Given the description of an element on the screen output the (x, y) to click on. 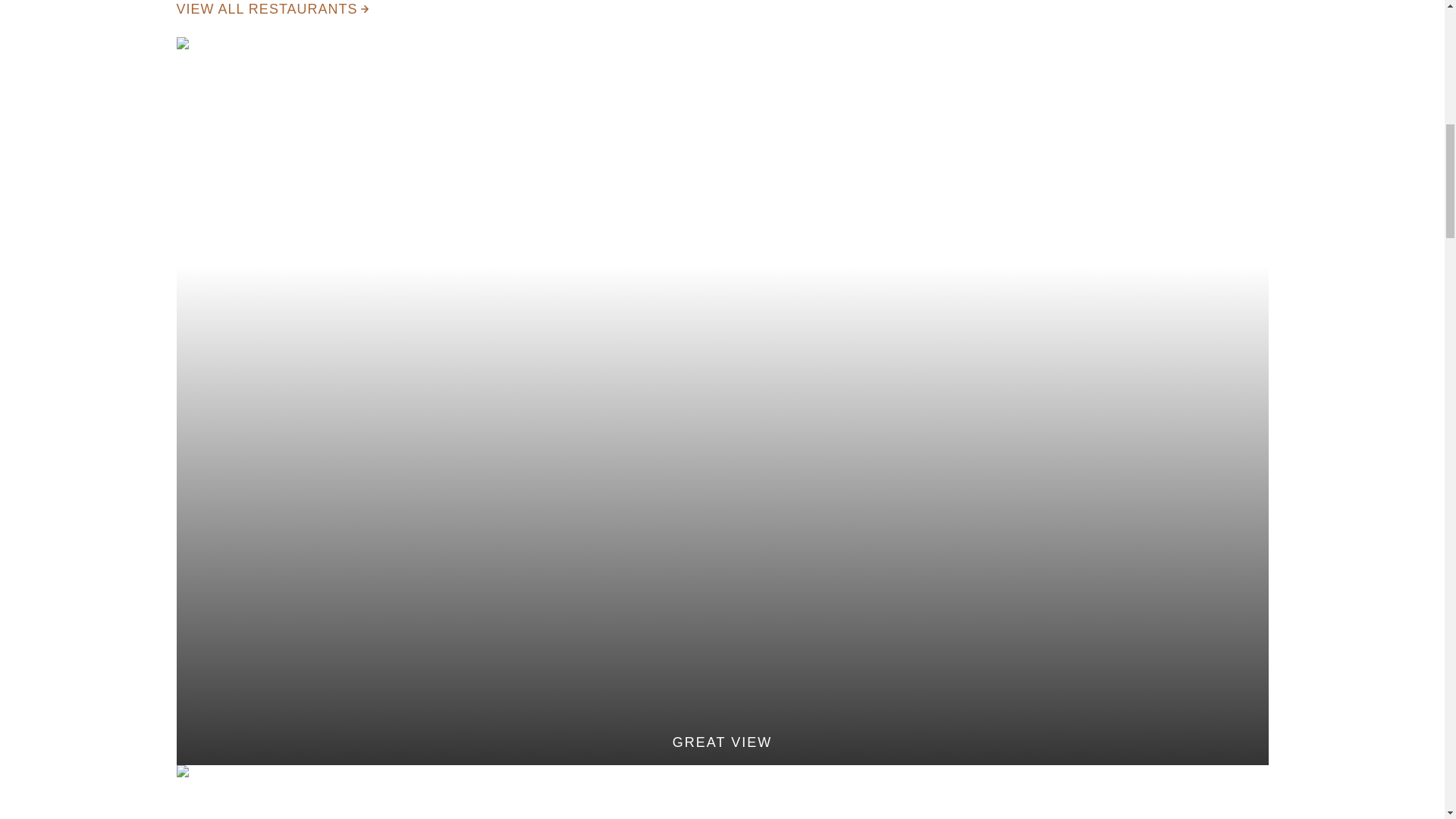
VIEW ALL RESTAURANTS (272, 9)
FIRST TIME MUSTS (722, 791)
